Given the description of an element on the screen output the (x, y) to click on. 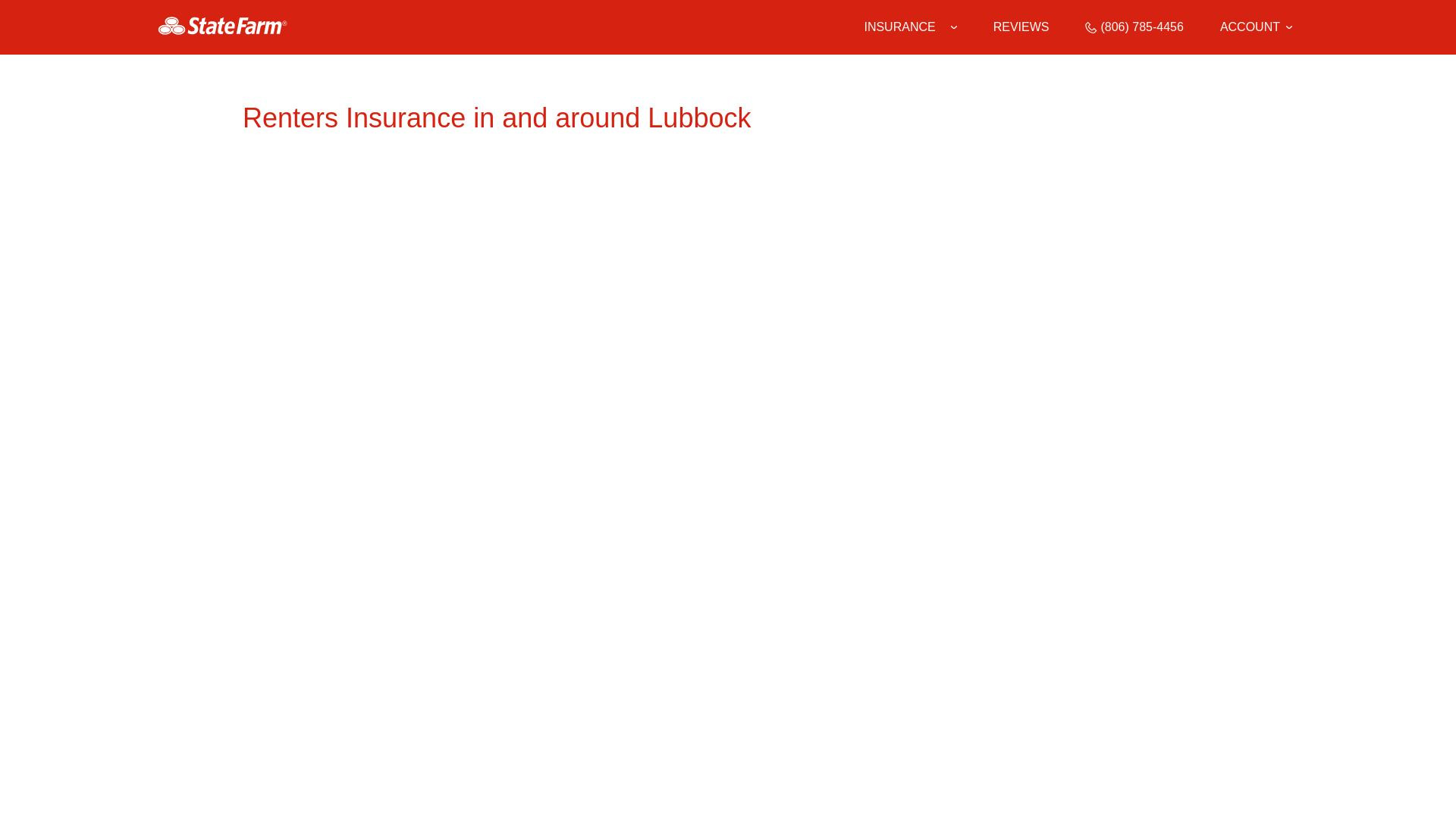
Account Options (1256, 27)
INSURANCE (898, 27)
REVIEWS (1021, 27)
ACCOUNT (1256, 27)
Insurance (909, 27)
